Given the description of an element on the screen output the (x, y) to click on. 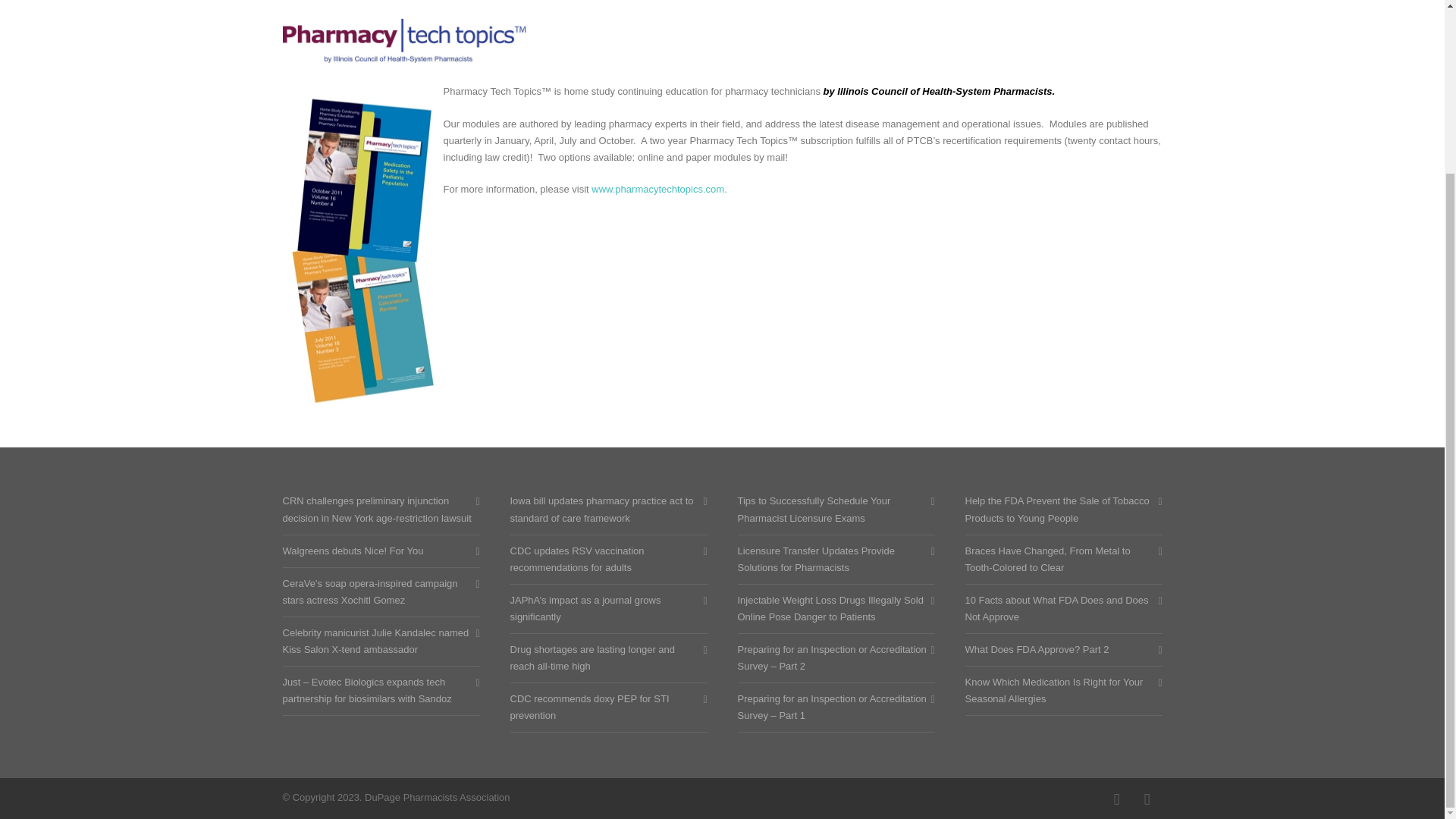
Drug shortages are lasting longer and reach all-time high (603, 657)
Licensure Transfer Updates Provide Solutions for Pharmacists (831, 559)
CDC recommends doxy PEP for STI prevention (603, 707)
Pharmacy Tech Topics (403, 40)
www.pharmacytechtopics.com. (658, 188)
email (1146, 798)
Walgreens debuts Nice! For You (376, 550)
Facebook (1115, 798)
CDC updates RSV vaccination recommendations for adults (603, 559)
